Given the description of an element on the screen output the (x, y) to click on. 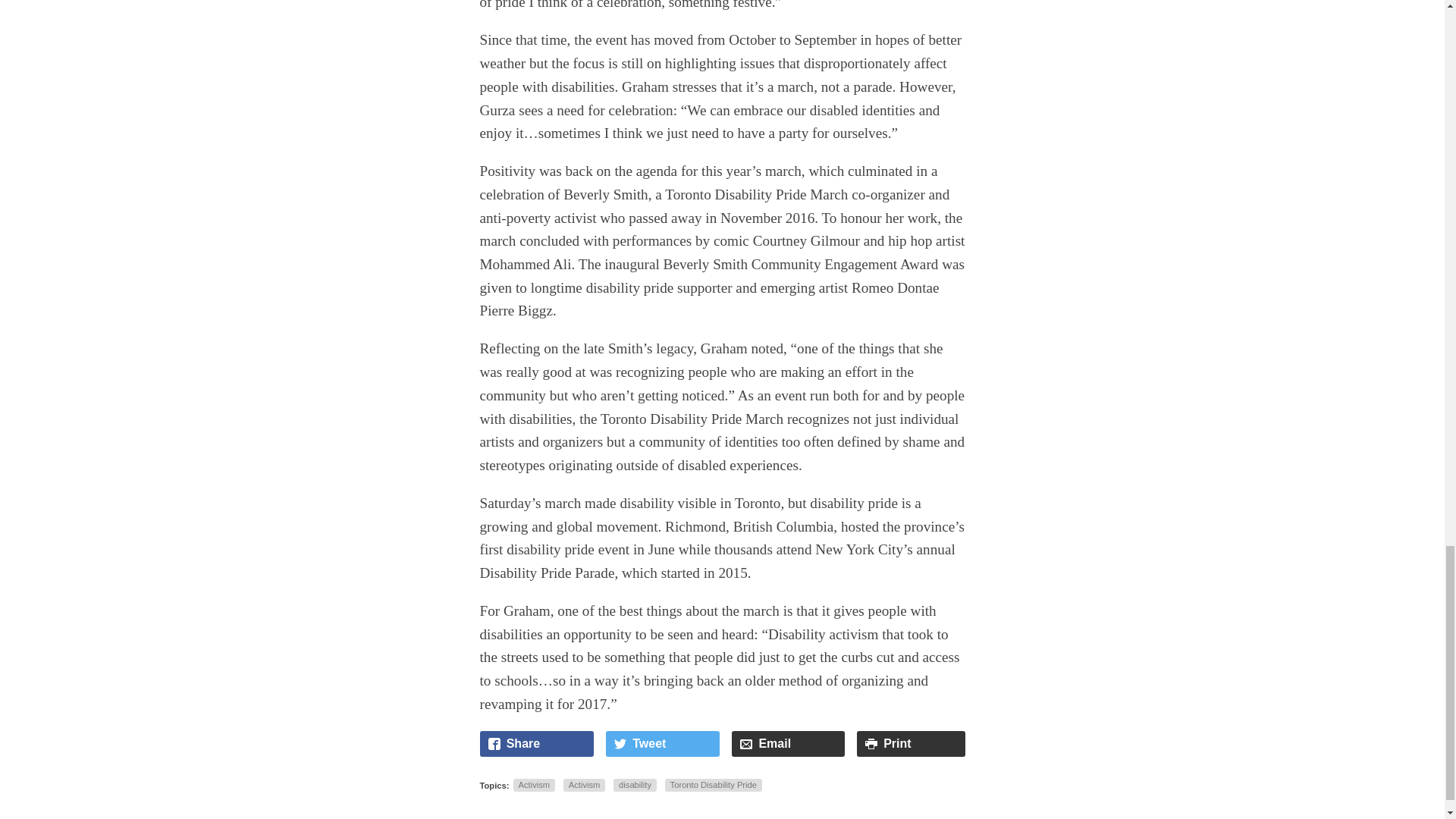
Share (536, 743)
disability (634, 784)
Tweet (662, 743)
Toronto Disability Pride (713, 784)
Email (788, 743)
Print (911, 743)
Activism (584, 784)
Activism (533, 784)
